Given the description of an element on the screen output the (x, y) to click on. 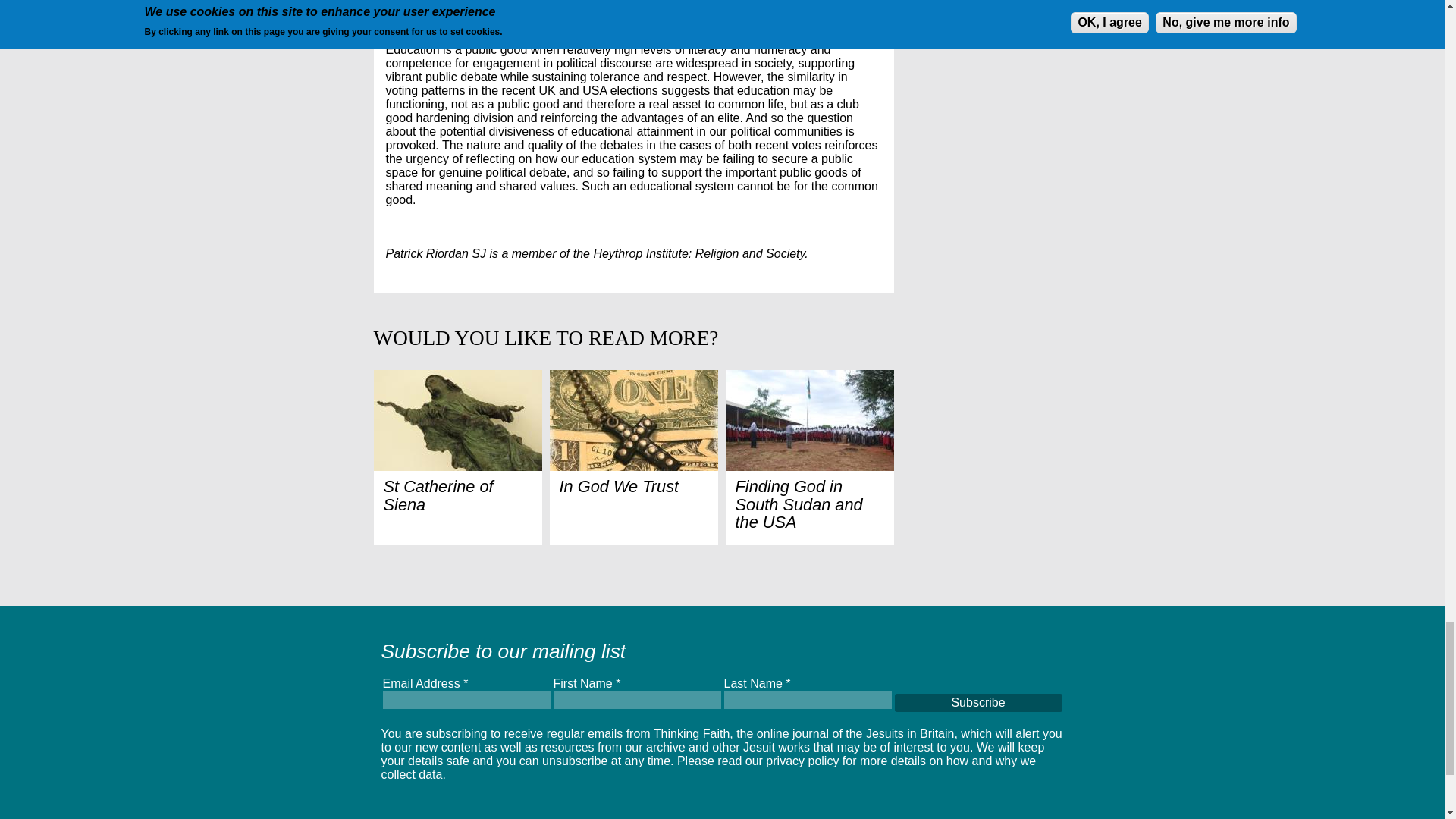
Subscribe (978, 702)
